Given the description of an element on the screen output the (x, y) to click on. 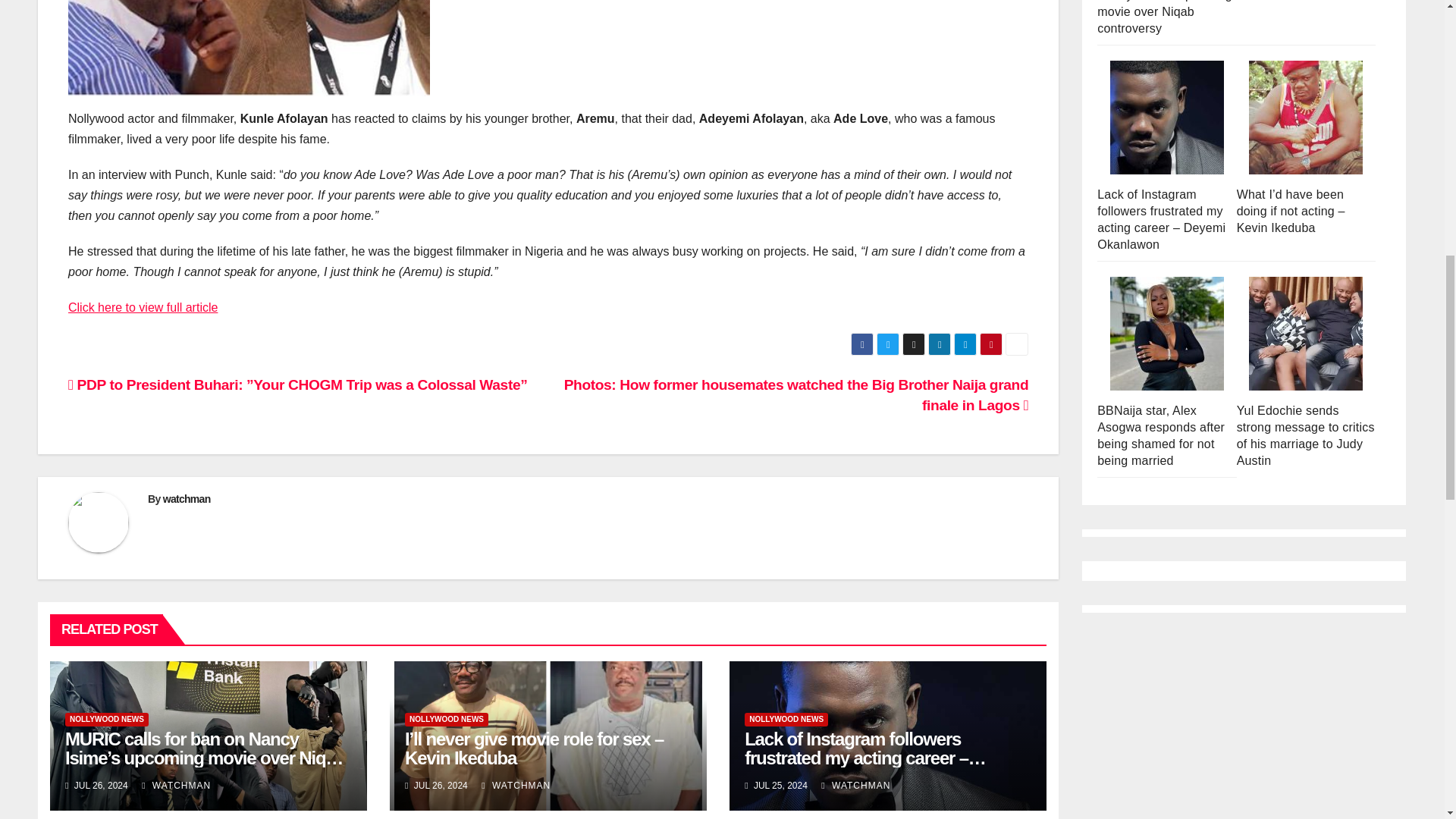
Click here to view full article (142, 307)
